Given the description of an element on the screen output the (x, y) to click on. 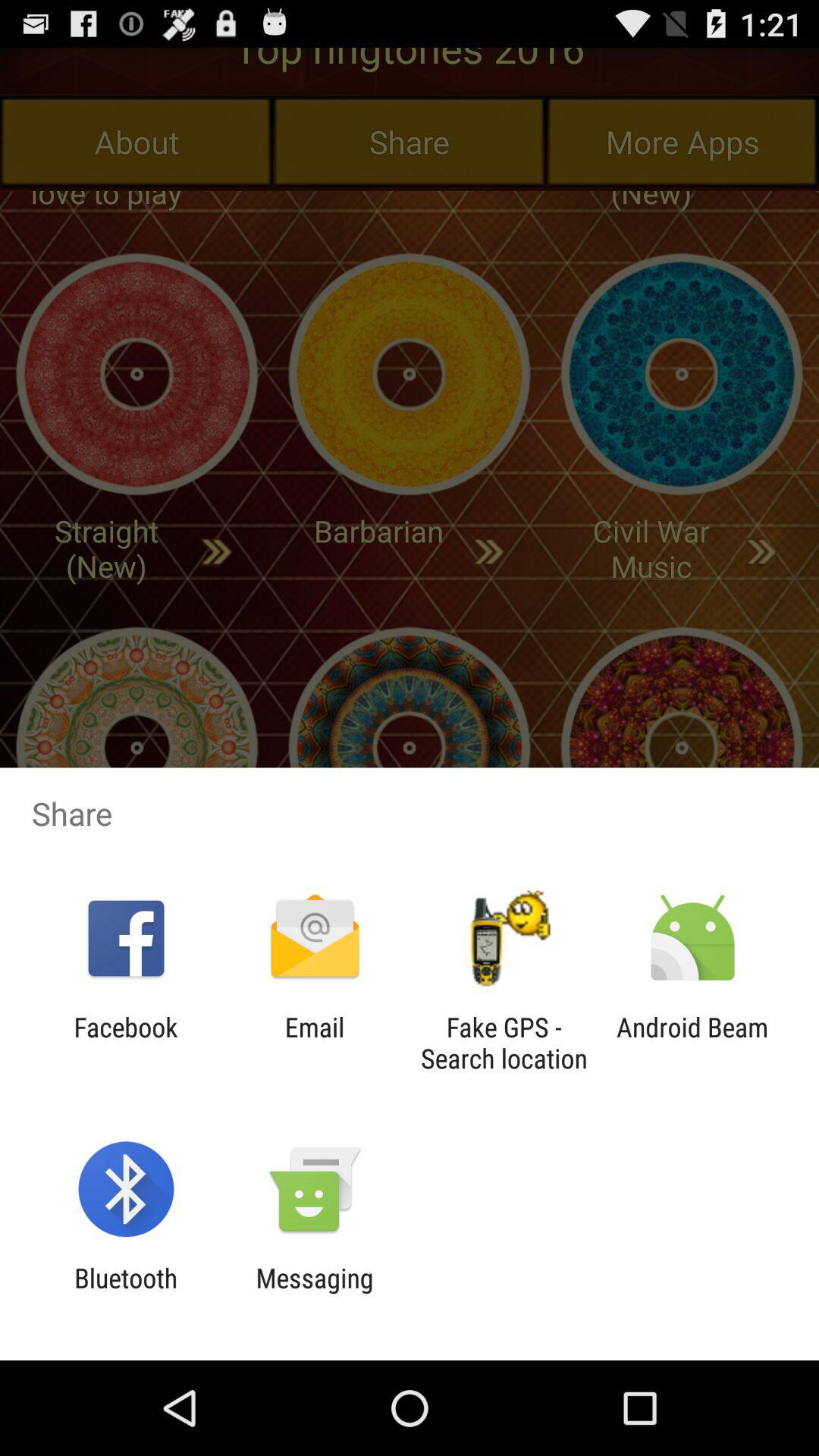
turn on the icon next to facebook (314, 1042)
